Given the description of an element on the screen output the (x, y) to click on. 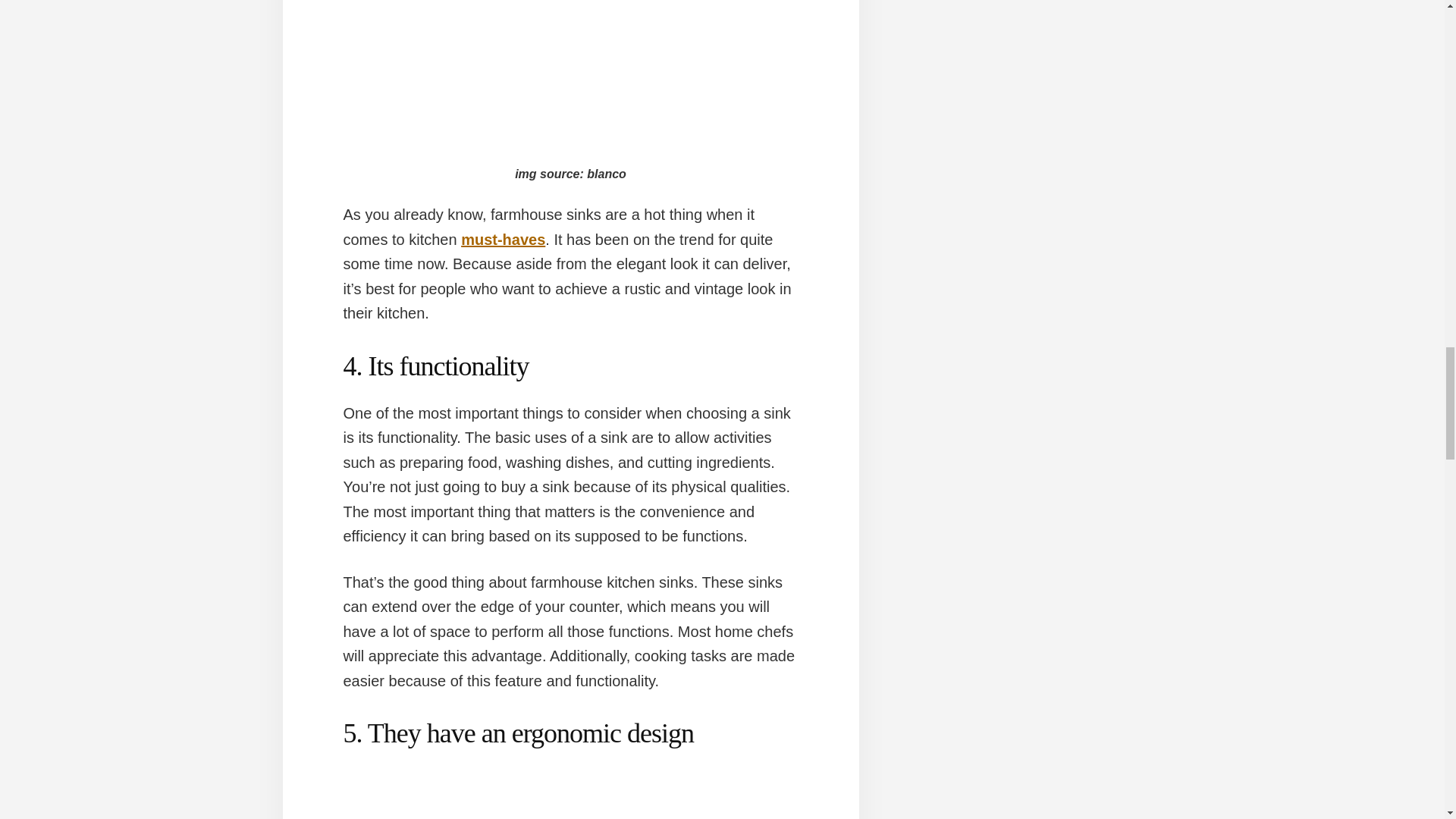
must-haves (502, 239)
